Given the description of an element on the screen output the (x, y) to click on. 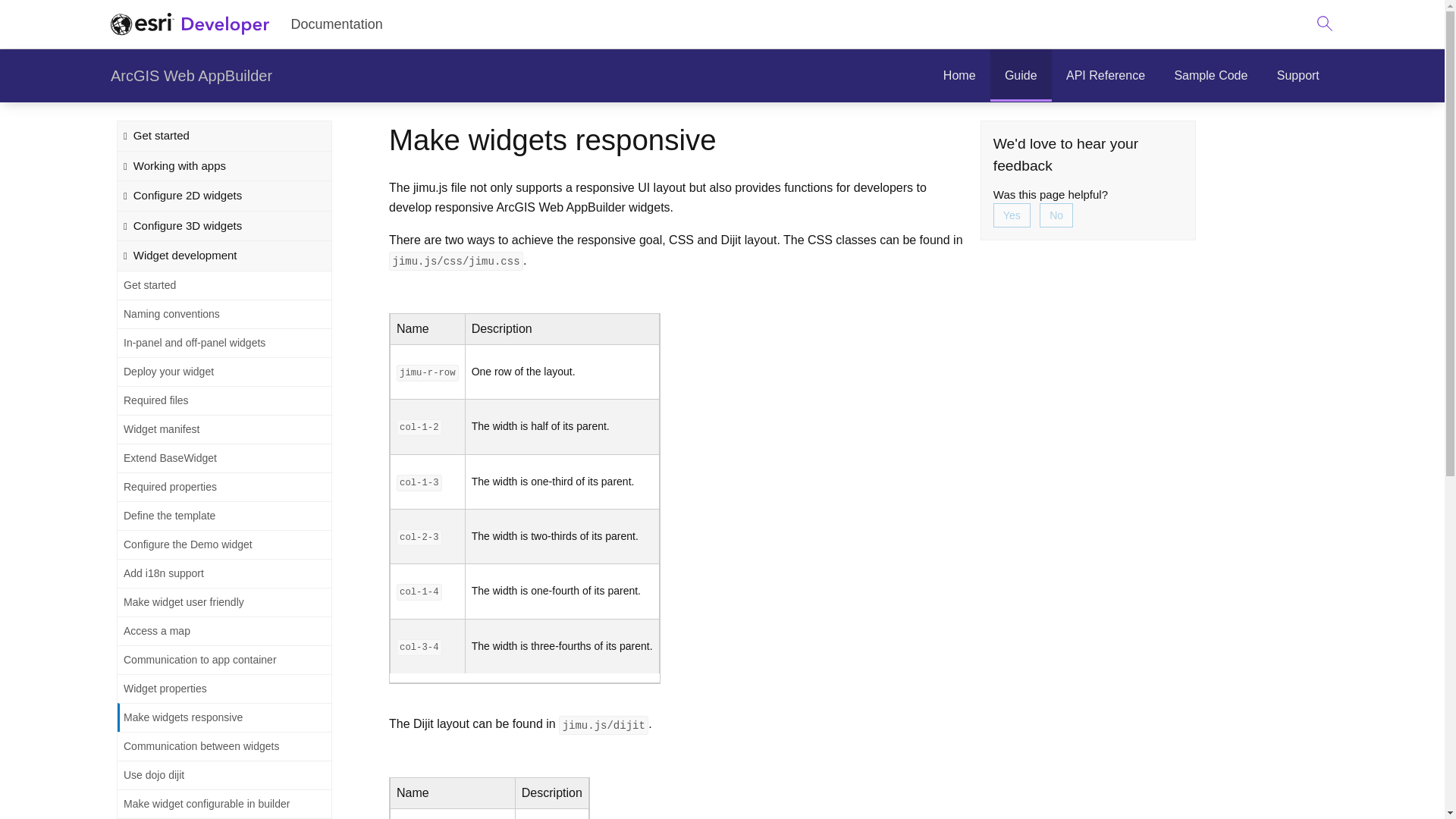
Web AppBuilder Help (959, 75)
Web AppBuilder Sample Code (1210, 75)
Web AppBuilder Guide (1020, 75)
Sample Code (1210, 75)
Home (959, 75)
API Reference (1104, 75)
Documentation (792, 24)
Support Resources for Web AppBuilder (1297, 75)
API Reference for Web AppBuilder (1104, 75)
Documentation (336, 24)
ArcGIS Web AppBuilder (191, 75)
Guide (1020, 75)
Esri Developer Homepage (190, 24)
Support (1297, 75)
